Given the description of an element on the screen output the (x, y) to click on. 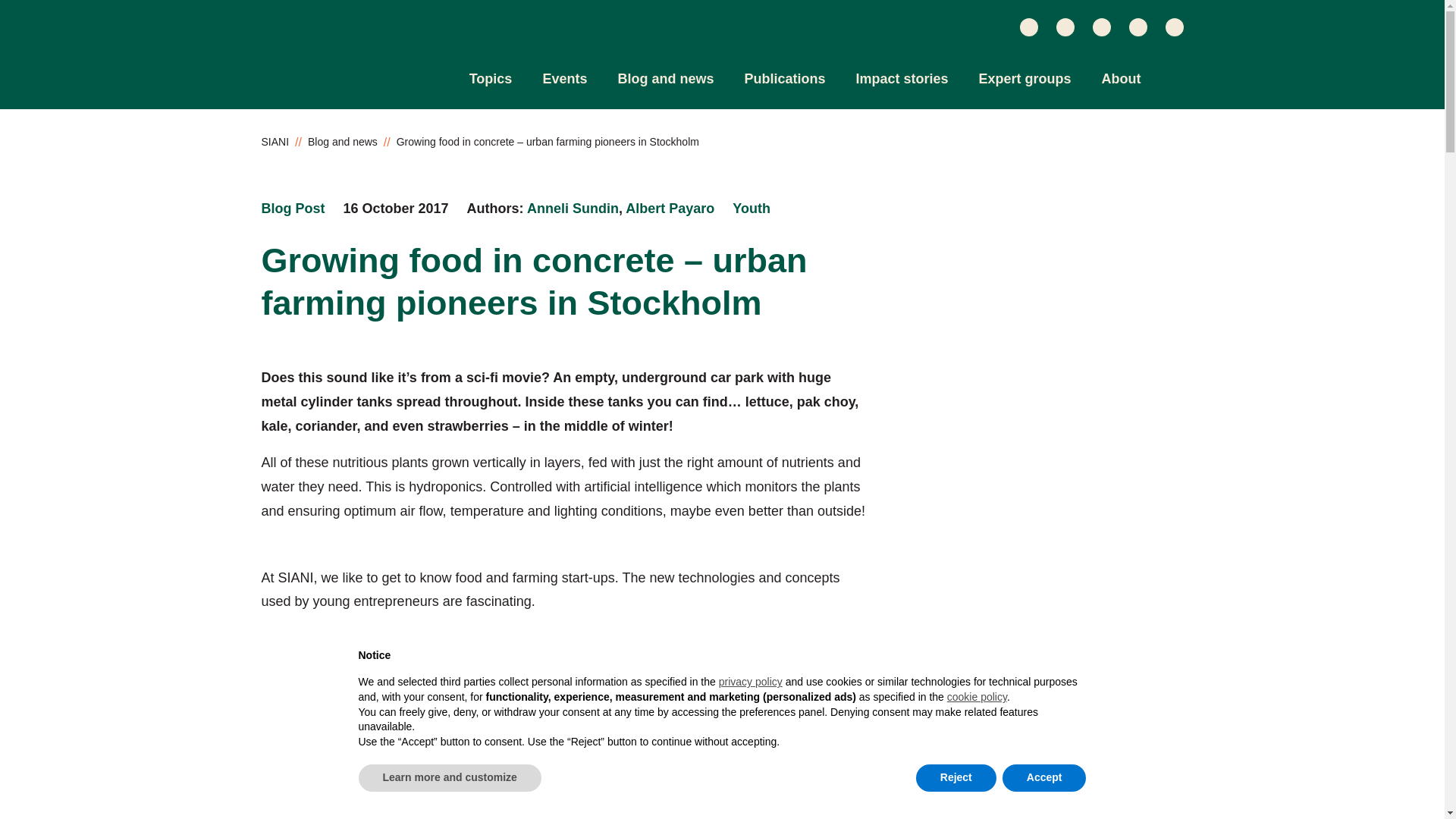
Facebook (1137, 27)
Blog and news (665, 79)
Twitter (1027, 27)
About (1121, 79)
Publications (784, 79)
Anneli Sundin (572, 208)
View archive (292, 209)
Events (563, 79)
Albert Payaro (670, 208)
Topics (490, 79)
